Given the description of an element on the screen output the (x, y) to click on. 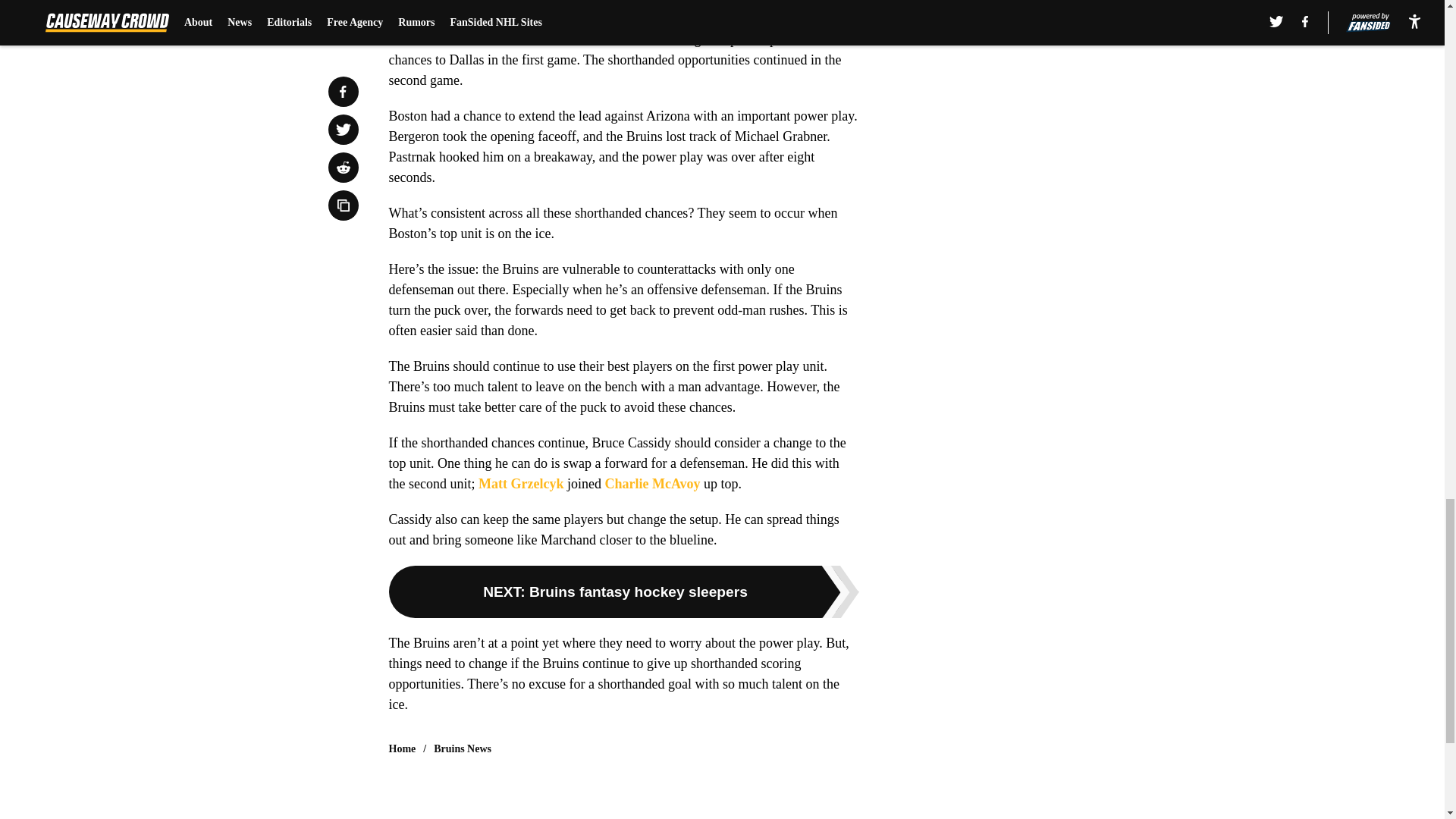
Boston conceded more shorthanded goals than any other team (610, 5)
Home (401, 749)
Matt Grzelcyk (521, 483)
Bruins News (462, 749)
Charlie McAvoy (652, 483)
NEXT: Bruins fantasy hockey sleepers (623, 591)
